Given the description of an element on the screen output the (x, y) to click on. 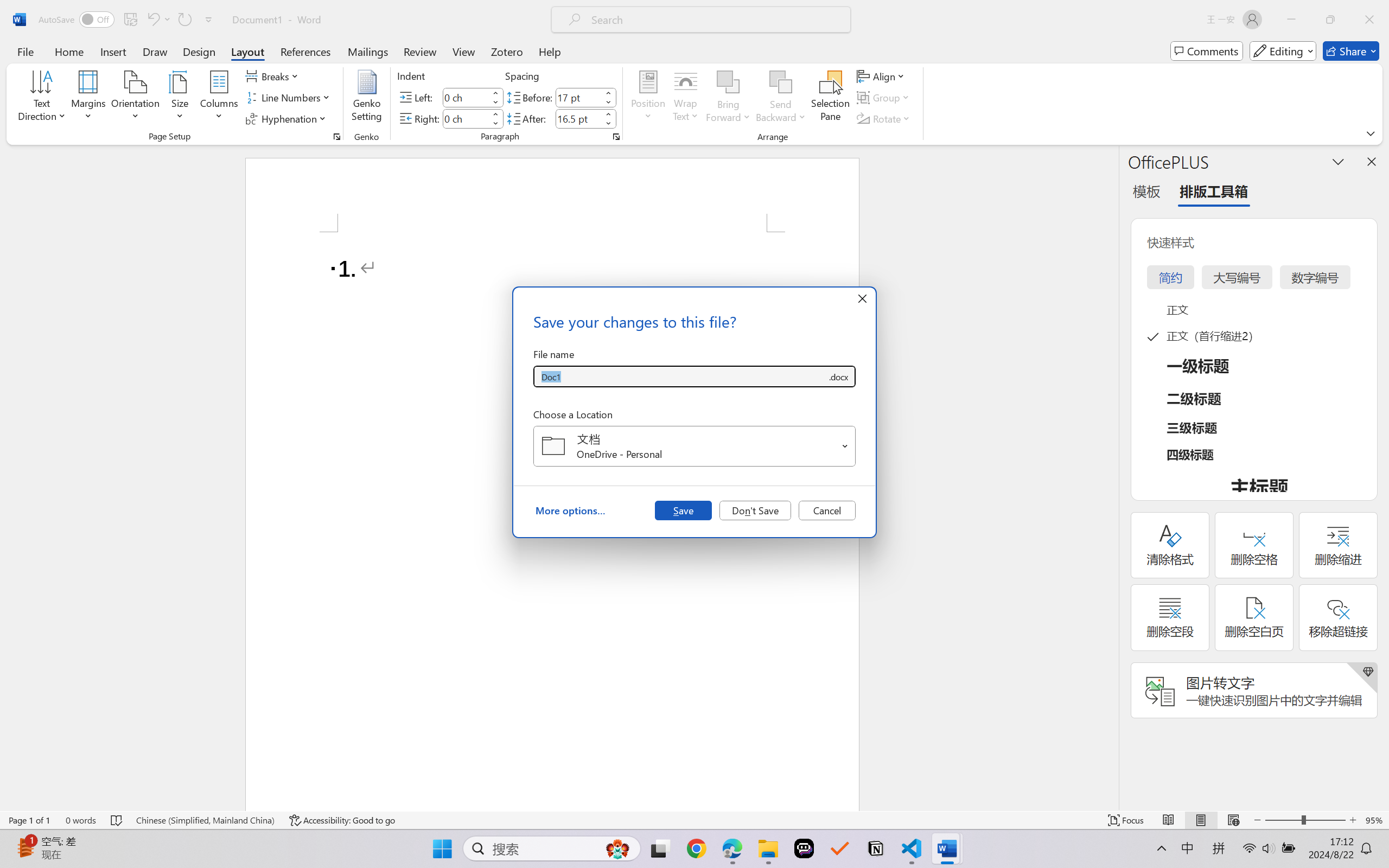
Text Direction (42, 97)
Choose a Location (694, 446)
Hyphenation (287, 118)
More (608, 113)
Group (884, 97)
